Given the description of an element on the screen output the (x, y) to click on. 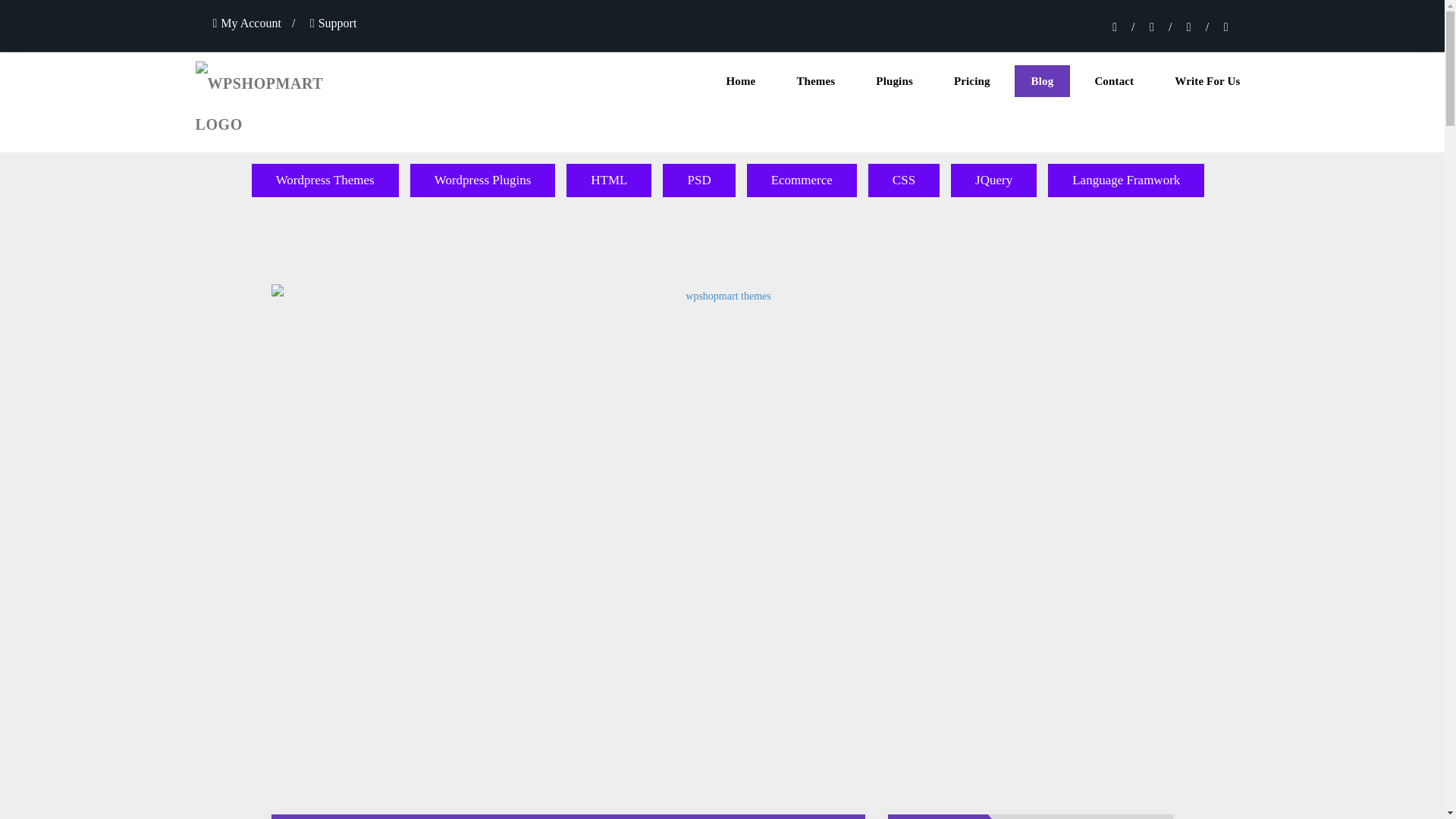
My Account (246, 22)
Themes (814, 81)
Contact (1113, 81)
Pricing (972, 81)
Write For Us (1206, 81)
Get support (333, 22)
member login (246, 22)
Support (333, 22)
Blog (1042, 81)
Wordpress Themes (324, 180)
